Given the description of an element on the screen output the (x, y) to click on. 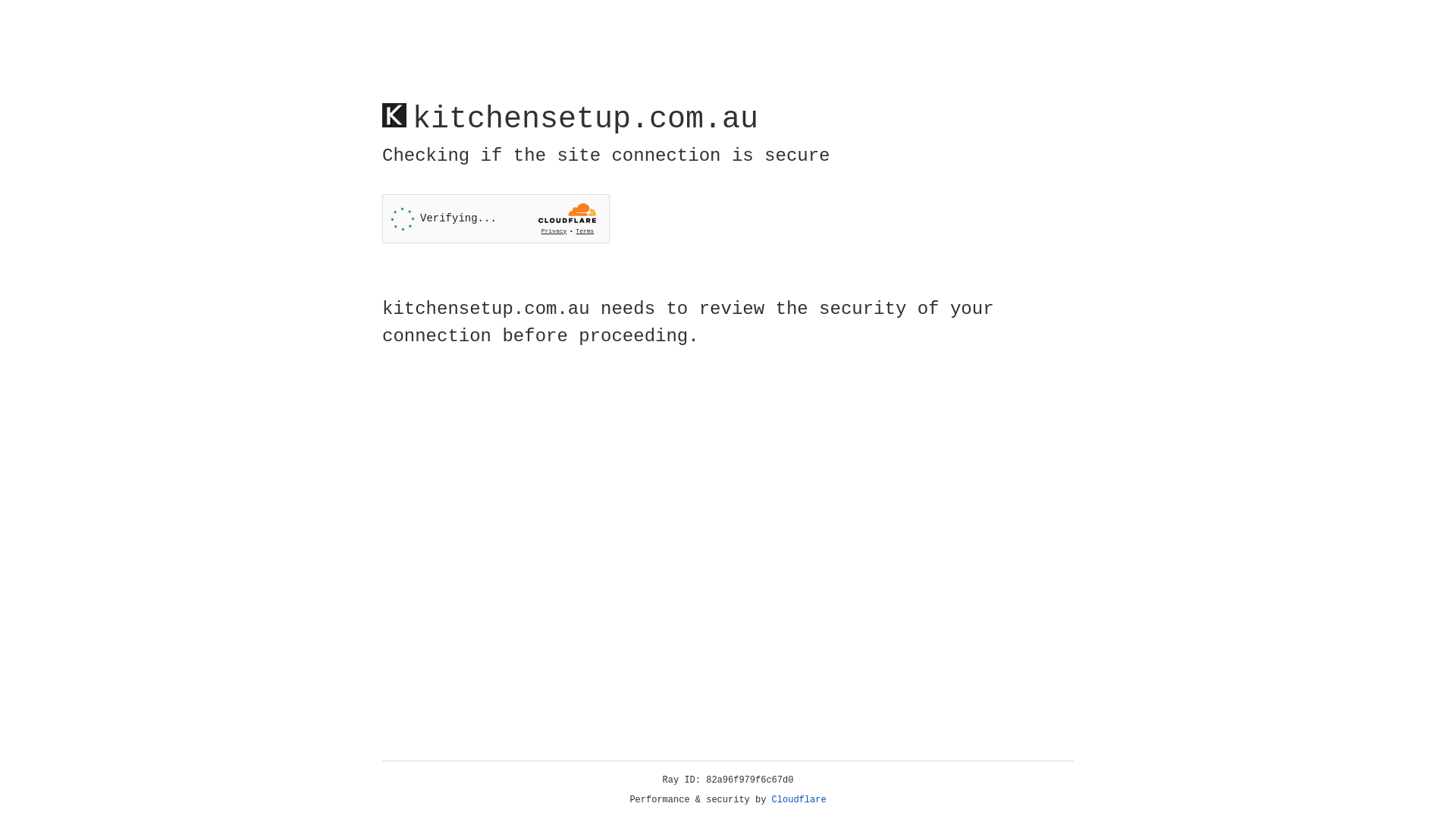
Widget containing a Cloudflare security challenge Element type: hover (495, 218)
Cloudflare Element type: text (798, 799)
